Given the description of an element on the screen output the (x, y) to click on. 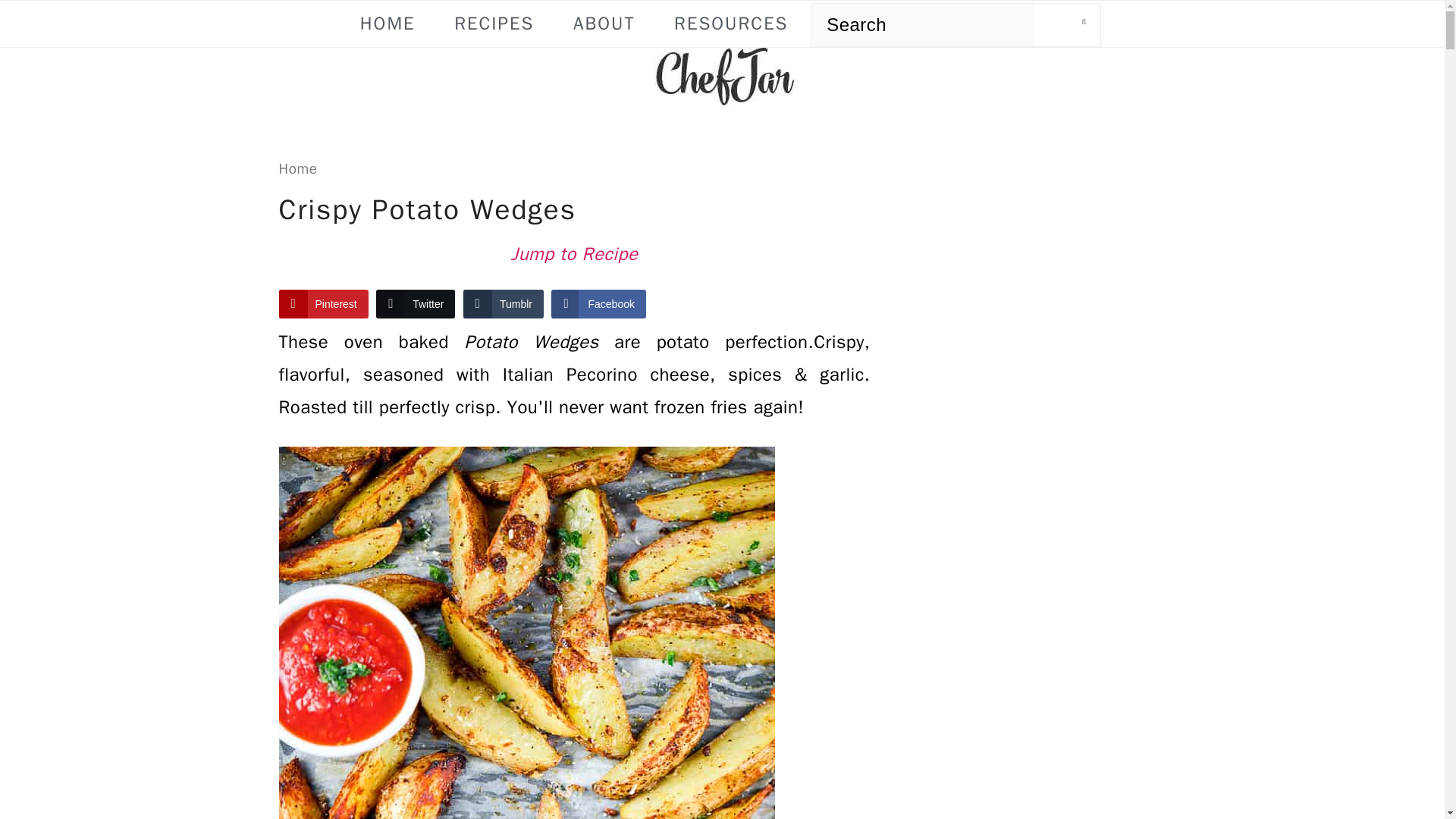
Facebook (598, 303)
Pinterest (323, 303)
ABOUT (603, 23)
Chefjar (721, 77)
Jump to Recipe (575, 254)
Tumblr (503, 303)
Jump to Recipe (575, 254)
Home (298, 167)
RESOURCES (730, 23)
HOME (387, 23)
Twitter (414, 303)
RECIPES (493, 23)
Chefjar (721, 96)
